Given the description of an element on the screen output the (x, y) to click on. 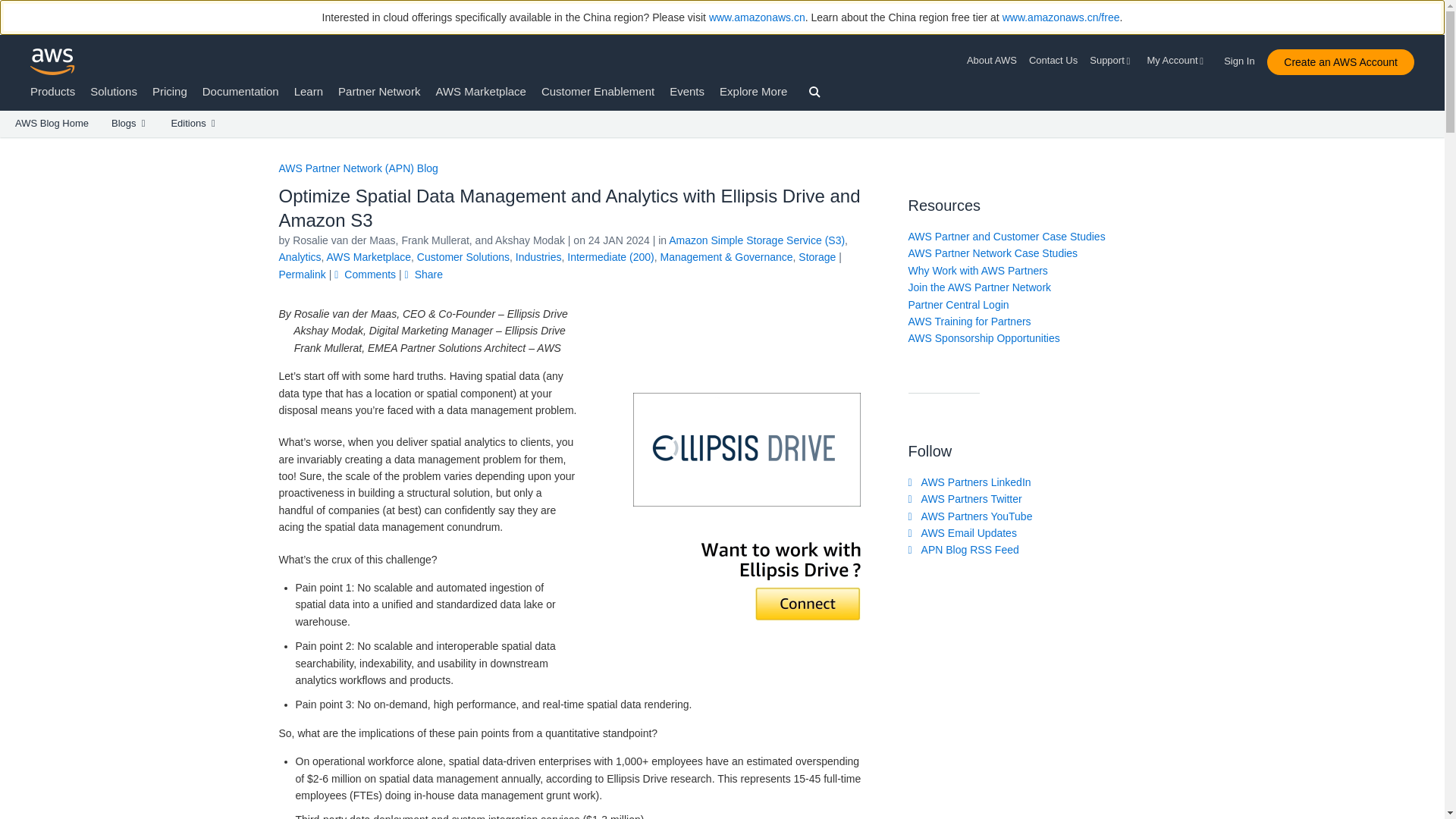
Pricing (169, 91)
About AWS (994, 60)
Contact Us (1053, 60)
Sign In (1243, 58)
View all posts in AWS Marketplace (369, 256)
View all posts in Customer Solutions (462, 256)
Learn (308, 91)
Support  (1111, 60)
Skip to Main Content (7, 143)
www.amazonaws.cn (757, 17)
View all posts in Analytics (300, 256)
Create an AWS Account (1339, 62)
Solutions (113, 91)
Explore More (753, 91)
Events (686, 91)
